Given the description of an element on the screen output the (x, y) to click on. 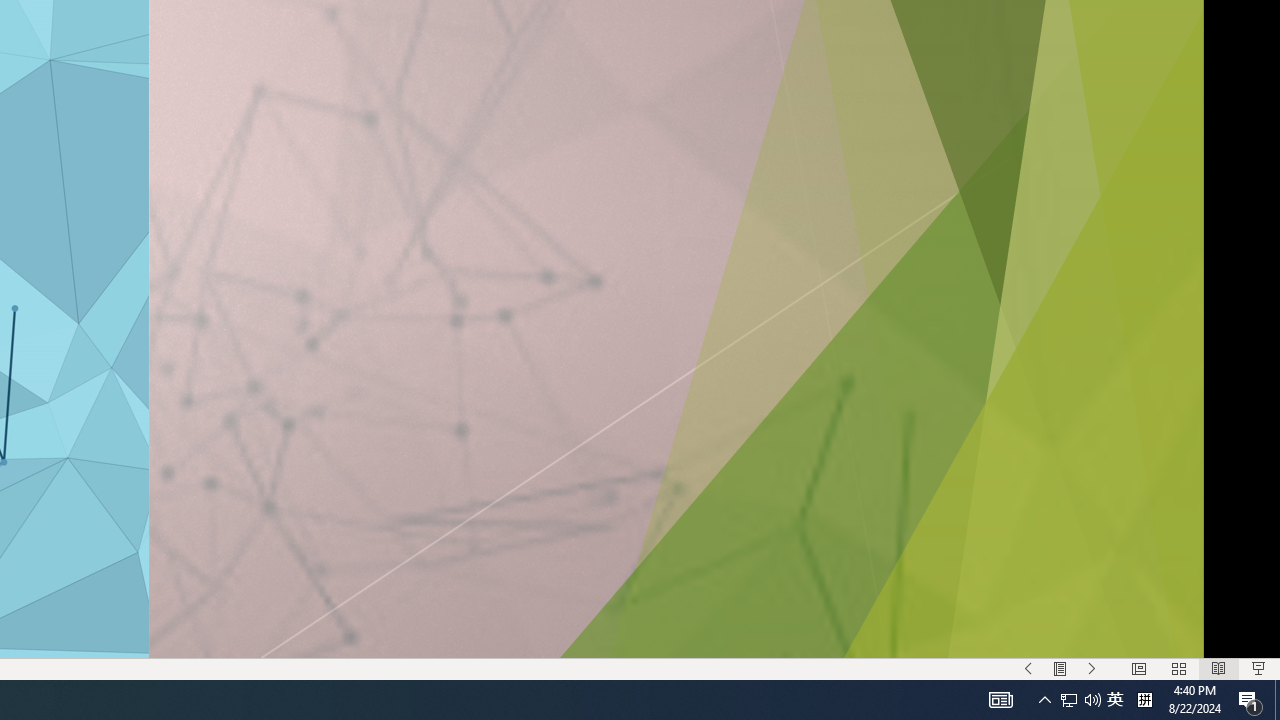
Slide Show Previous On (1028, 668)
Slide Show Next On (1092, 668)
Menu On (1060, 668)
